Given the description of an element on the screen output the (x, y) to click on. 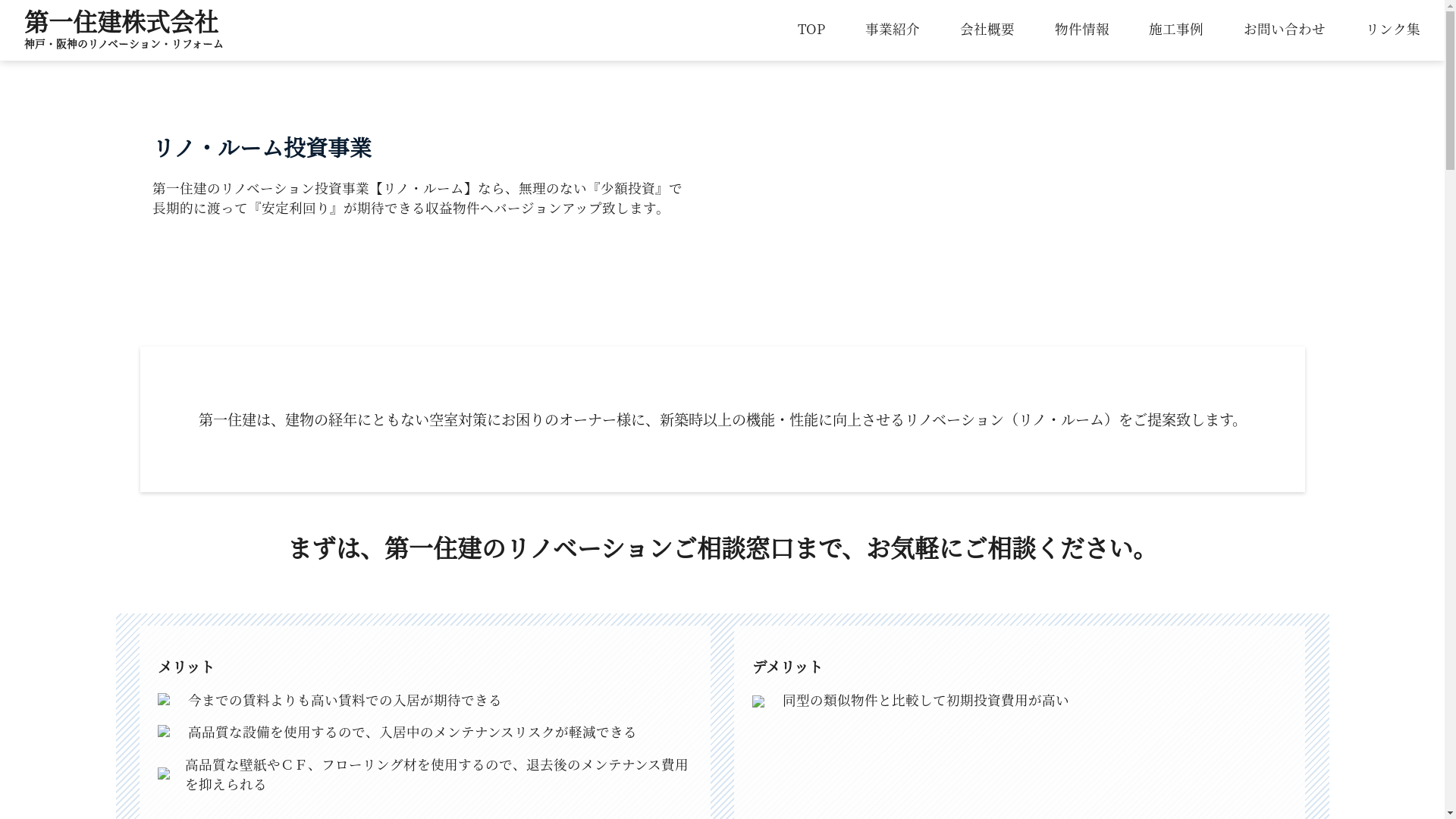
TOP Element type: text (811, 27)
